Given the description of an element on the screen output the (x, y) to click on. 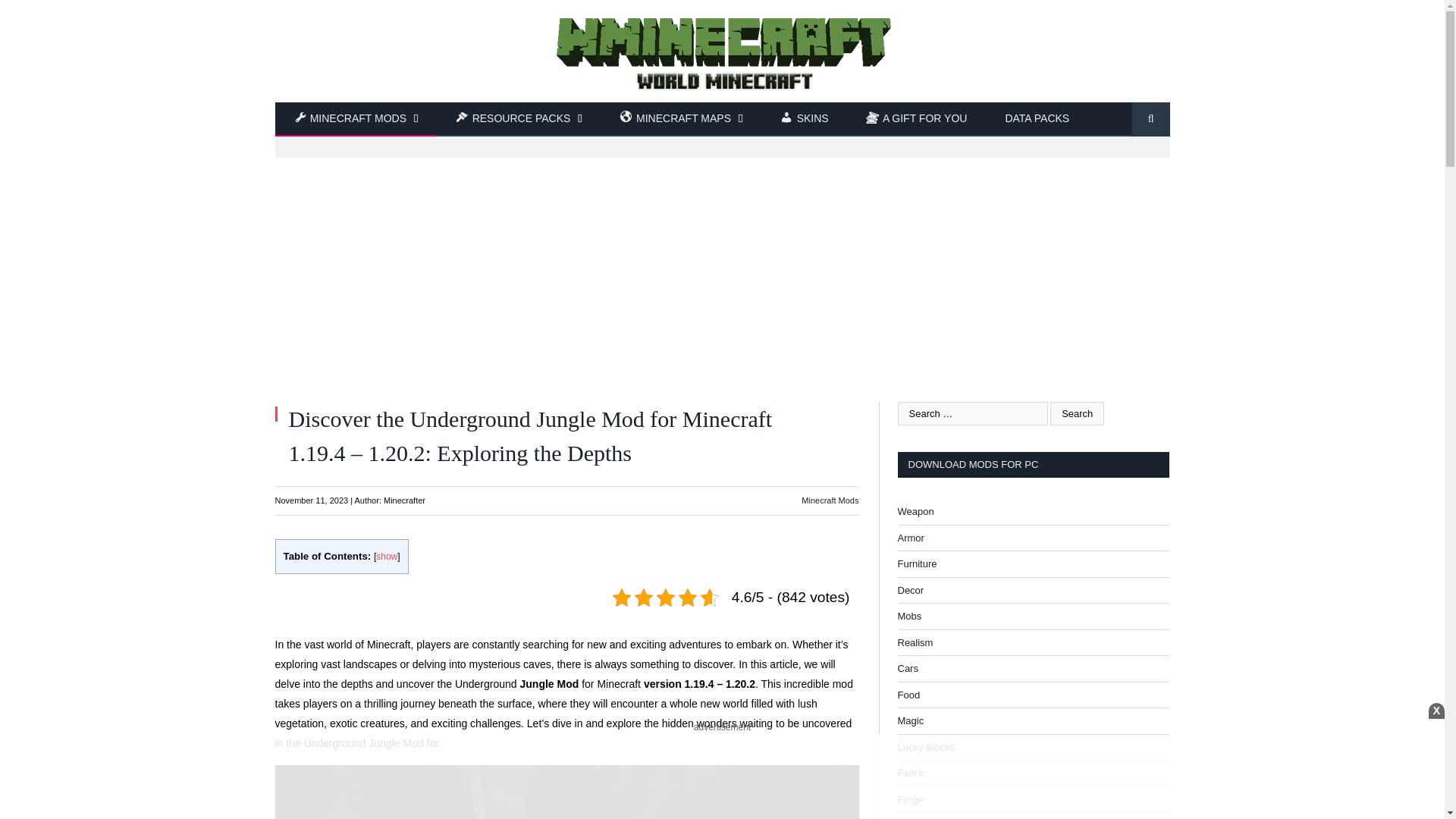
World Minecraft (722, 51)
RESOURCE PACKS (517, 119)
MINECRAFT MODS (355, 119)
Search (1076, 413)
Minecraft Maps (681, 119)
Minecraft Mods (355, 119)
Resource Packs (517, 119)
Search (1076, 413)
